Given the description of an element on the screen output the (x, y) to click on. 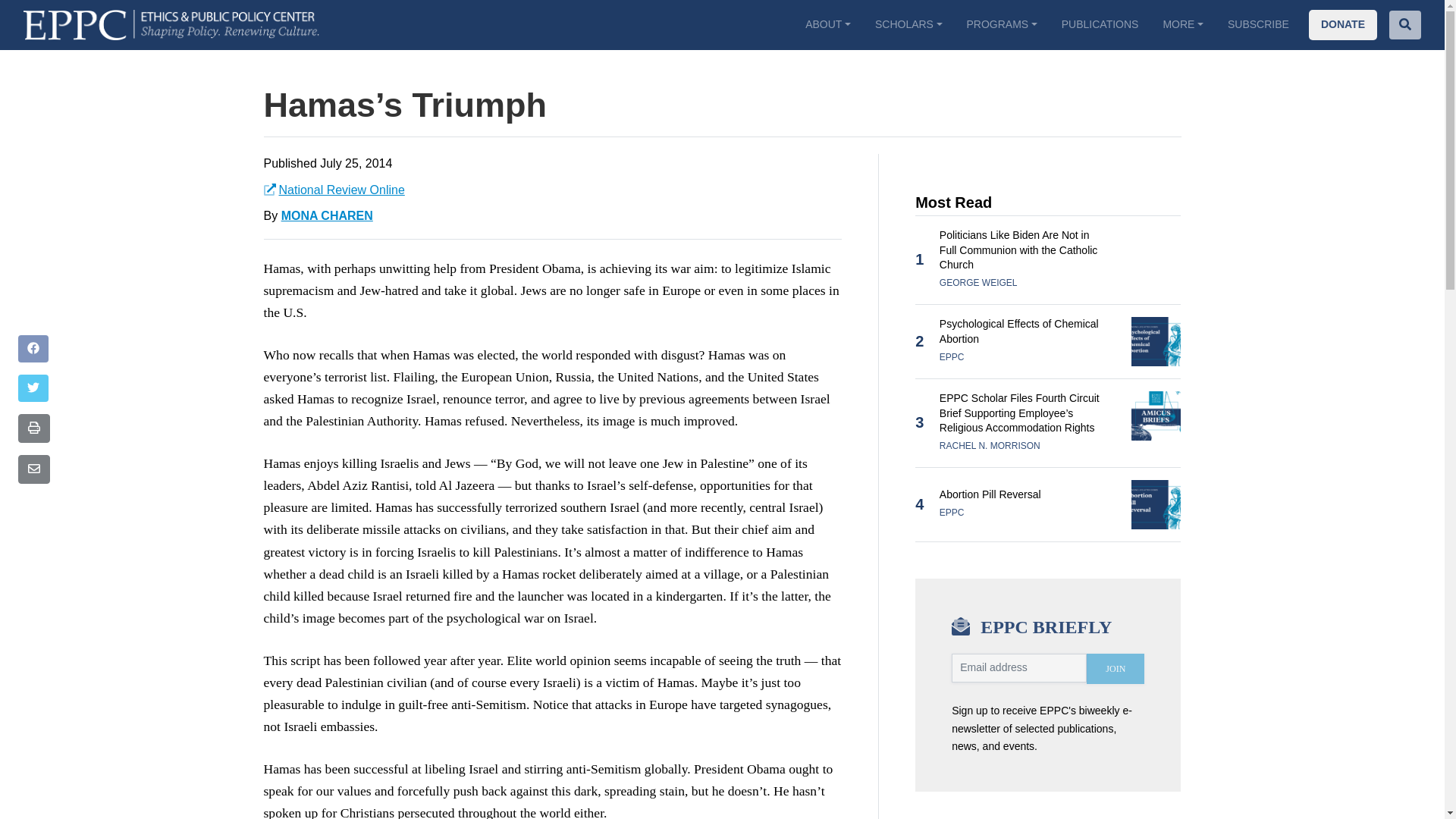
SCHOLARS (909, 24)
ABOUT (828, 24)
JOIN (1115, 668)
